Given the description of an element on the screen output the (x, y) to click on. 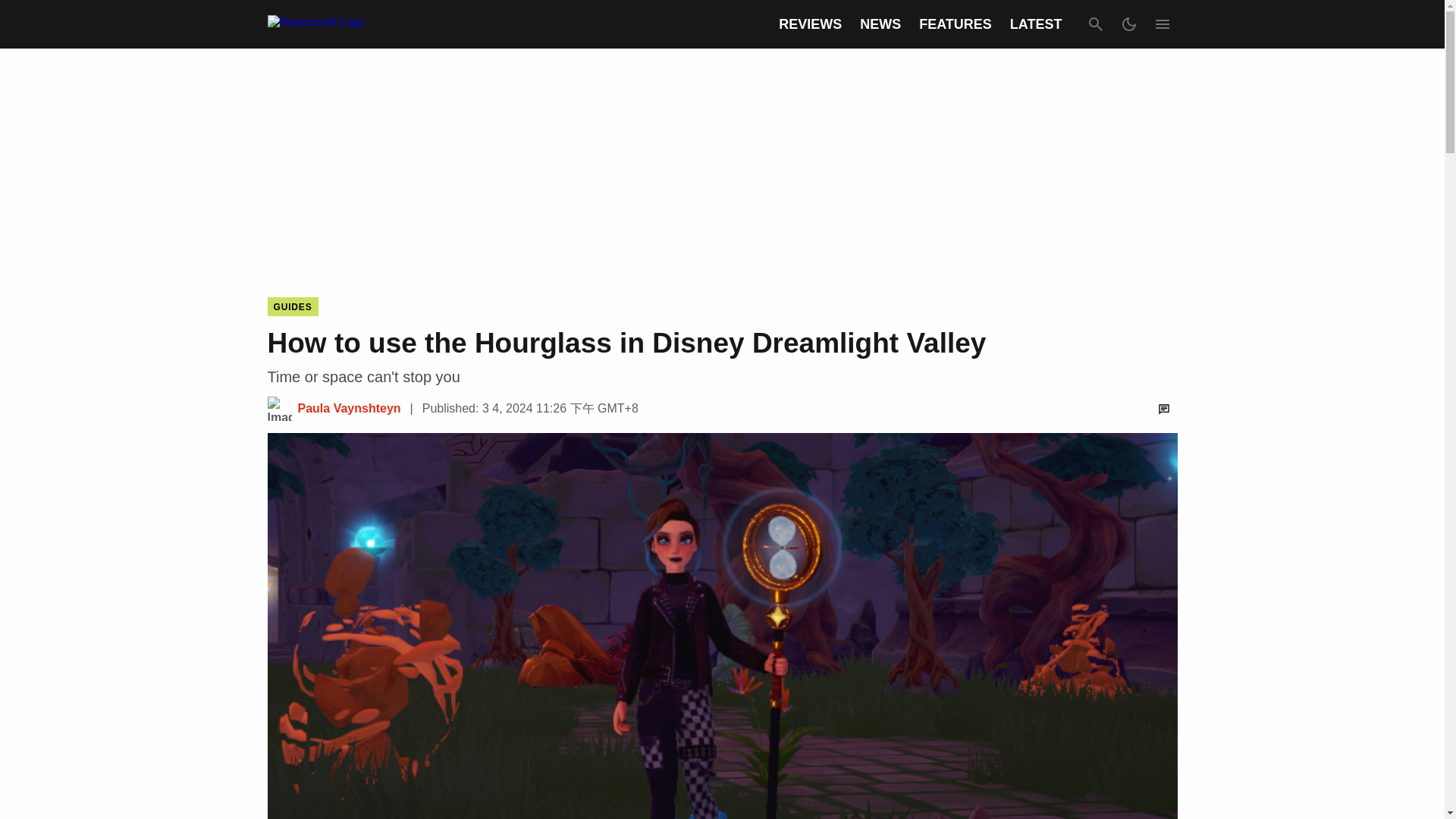
GUIDES (291, 306)
Dark Mode (1127, 24)
FEATURES (954, 23)
Search (1094, 24)
Expand Menu (1161, 24)
LATEST (1036, 23)
NEWS (880, 23)
REVIEWS (809, 23)
